Given the description of an element on the screen output the (x, y) to click on. 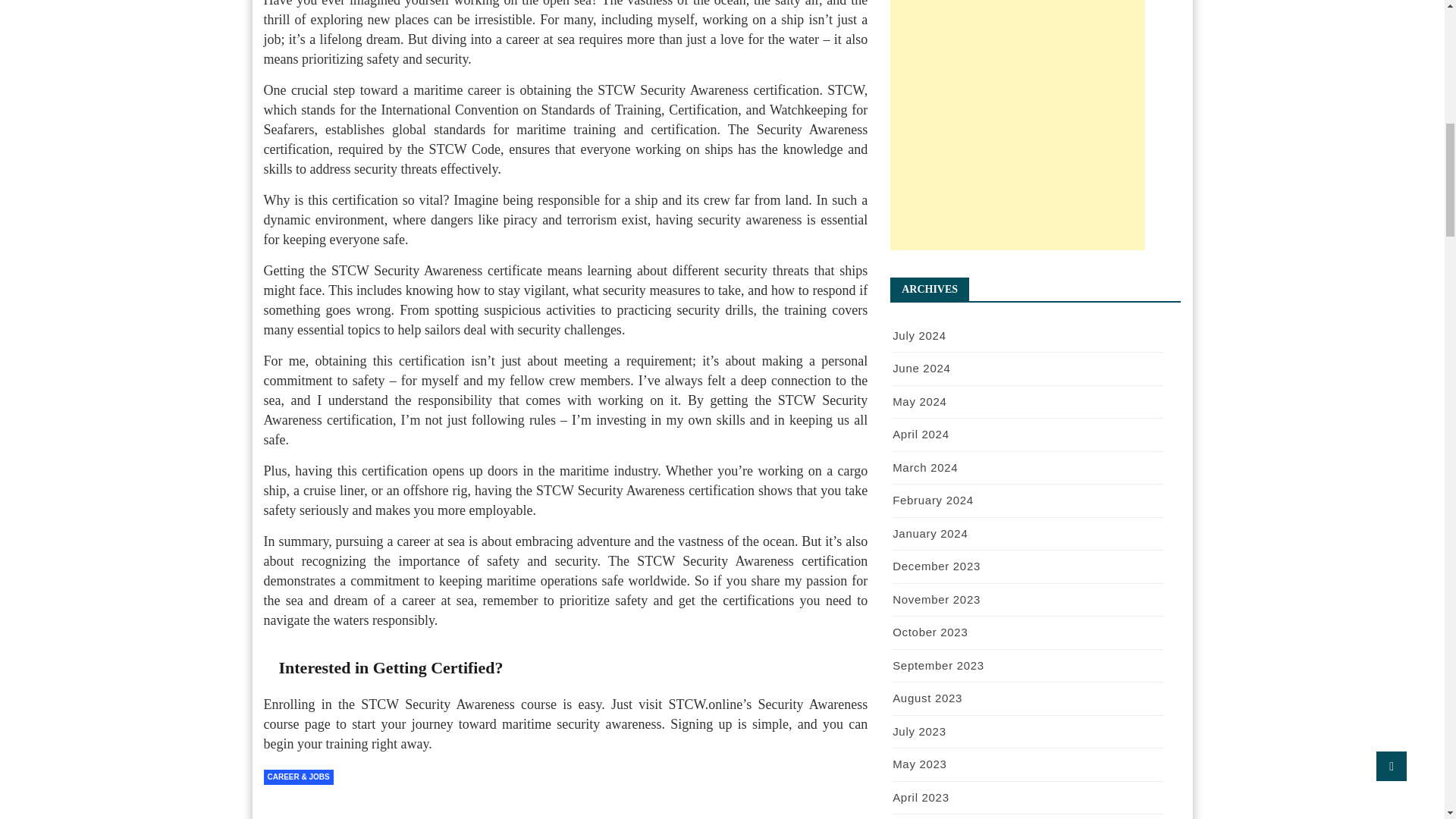
May 2024 (919, 400)
October 2023 (930, 631)
January 2024 (930, 532)
February 2024 (933, 499)
September 2023 (938, 664)
July 2024 (919, 335)
November 2023 (935, 599)
August 2023 (927, 697)
December 2023 (935, 565)
June 2024 (921, 367)
April 2024 (920, 433)
March 2024 (925, 467)
